Given the description of an element on the screen output the (x, y) to click on. 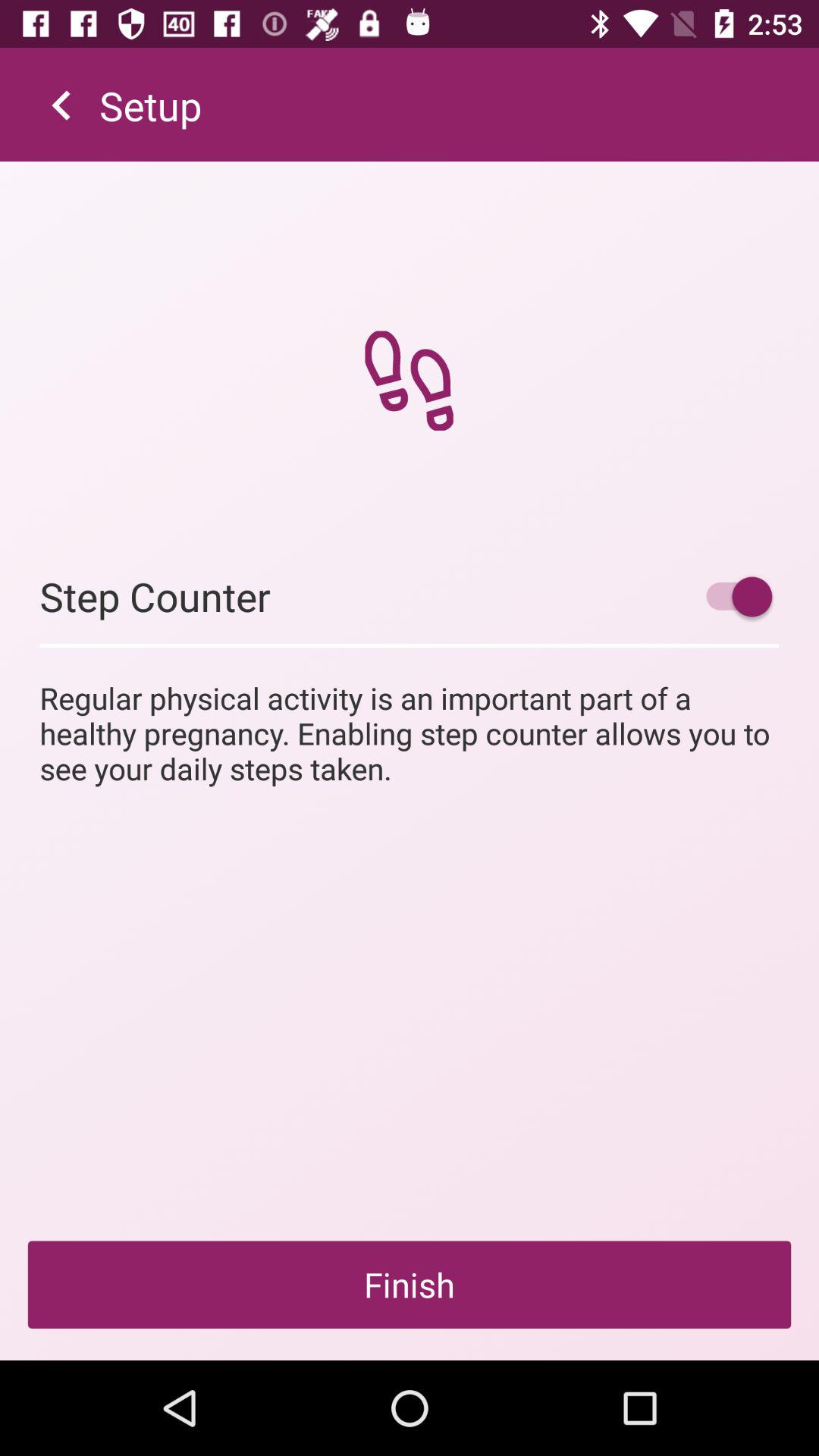
choose item below regular physical activity icon (409, 1284)
